Given the description of an element on the screen output the (x, y) to click on. 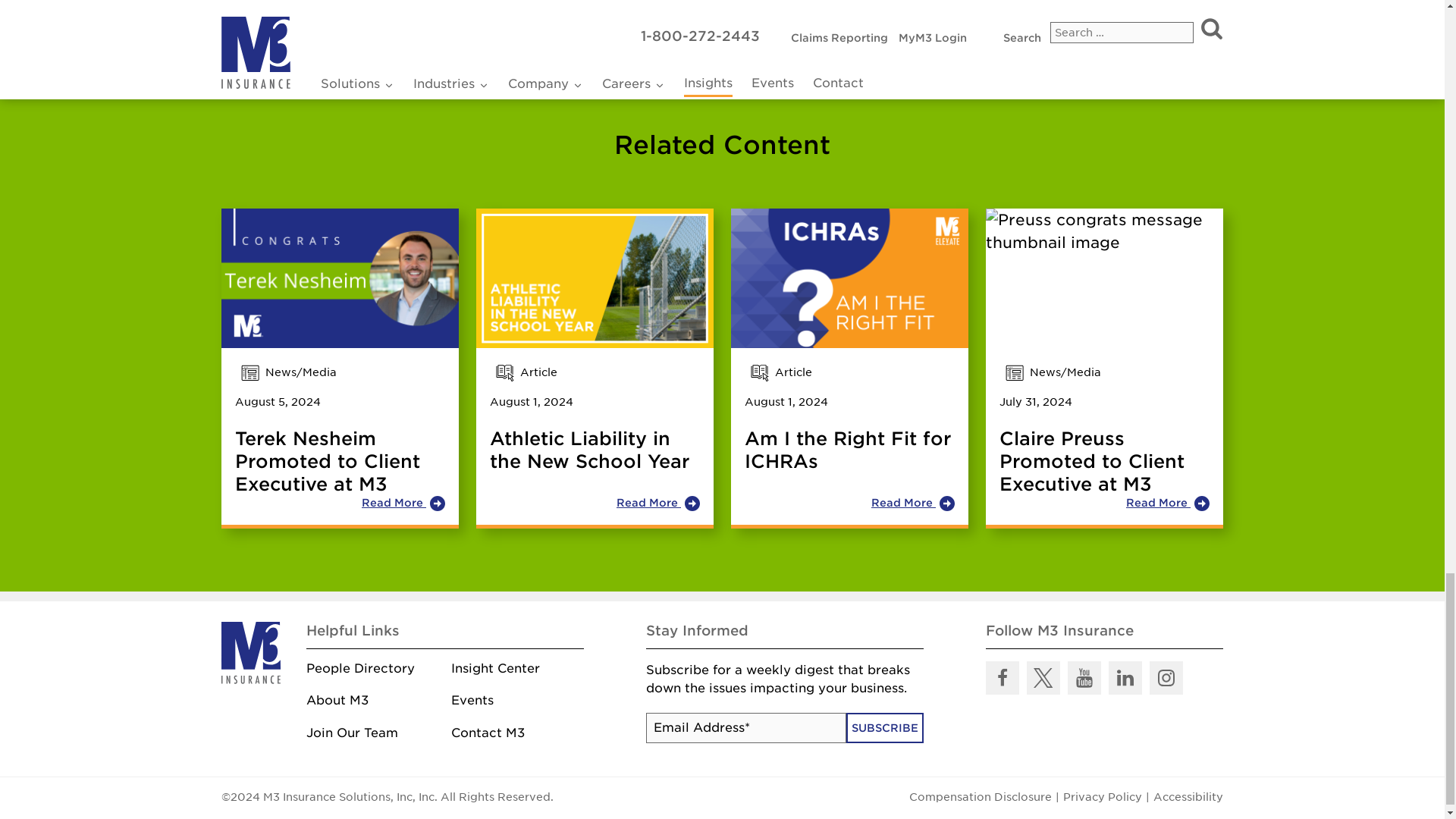
M3 Insurance on LinkedIn (1124, 677)
M3 Insurance on Twitter (1042, 677)
M3 Insurance on Facebook (1002, 677)
M3 Insurance on instagram (1166, 677)
Subscribe (884, 727)
M3 Insurance on youtube (1083, 677)
